Given the description of an element on the screen output the (x, y) to click on. 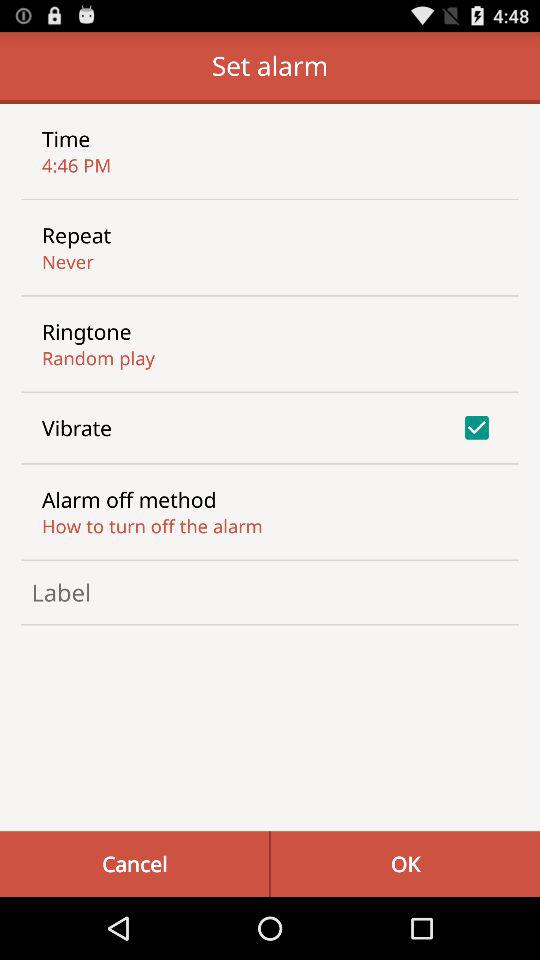
turn off the app below the time app (76, 164)
